Given the description of an element on the screen output the (x, y) to click on. 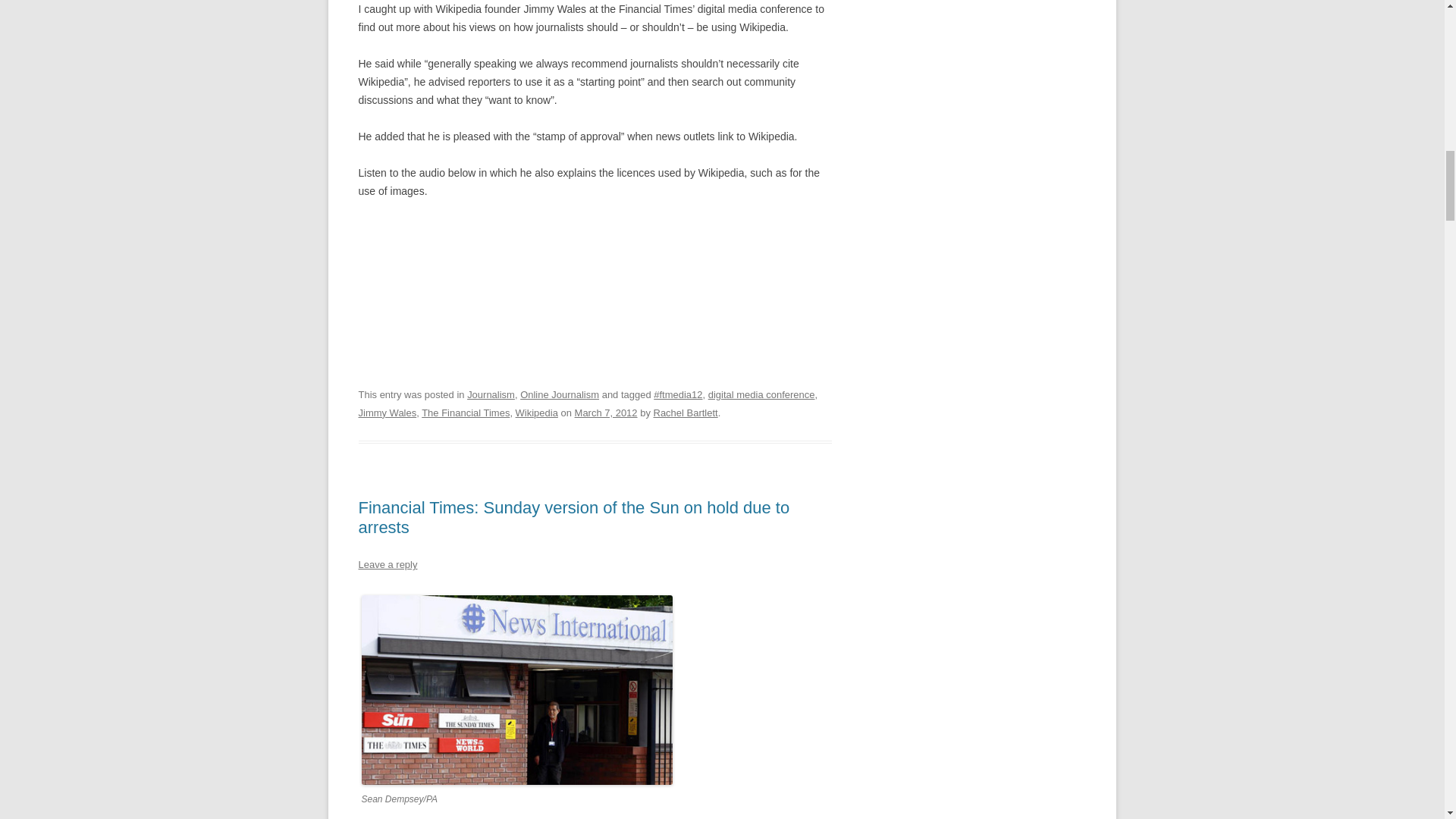
Rachel Bartlett (685, 412)
Phone hacking claims (516, 689)
Journalism (491, 394)
12:19 pm (606, 412)
Wikipedia (536, 412)
The Financial Times (465, 412)
Online Journalism (558, 394)
Jimmy Wales (387, 412)
digital media conference (761, 394)
March 7, 2012 (606, 412)
Leave a reply (387, 564)
View all posts by Rachel Bartlett (685, 412)
